Given the description of an element on the screen output the (x, y) to click on. 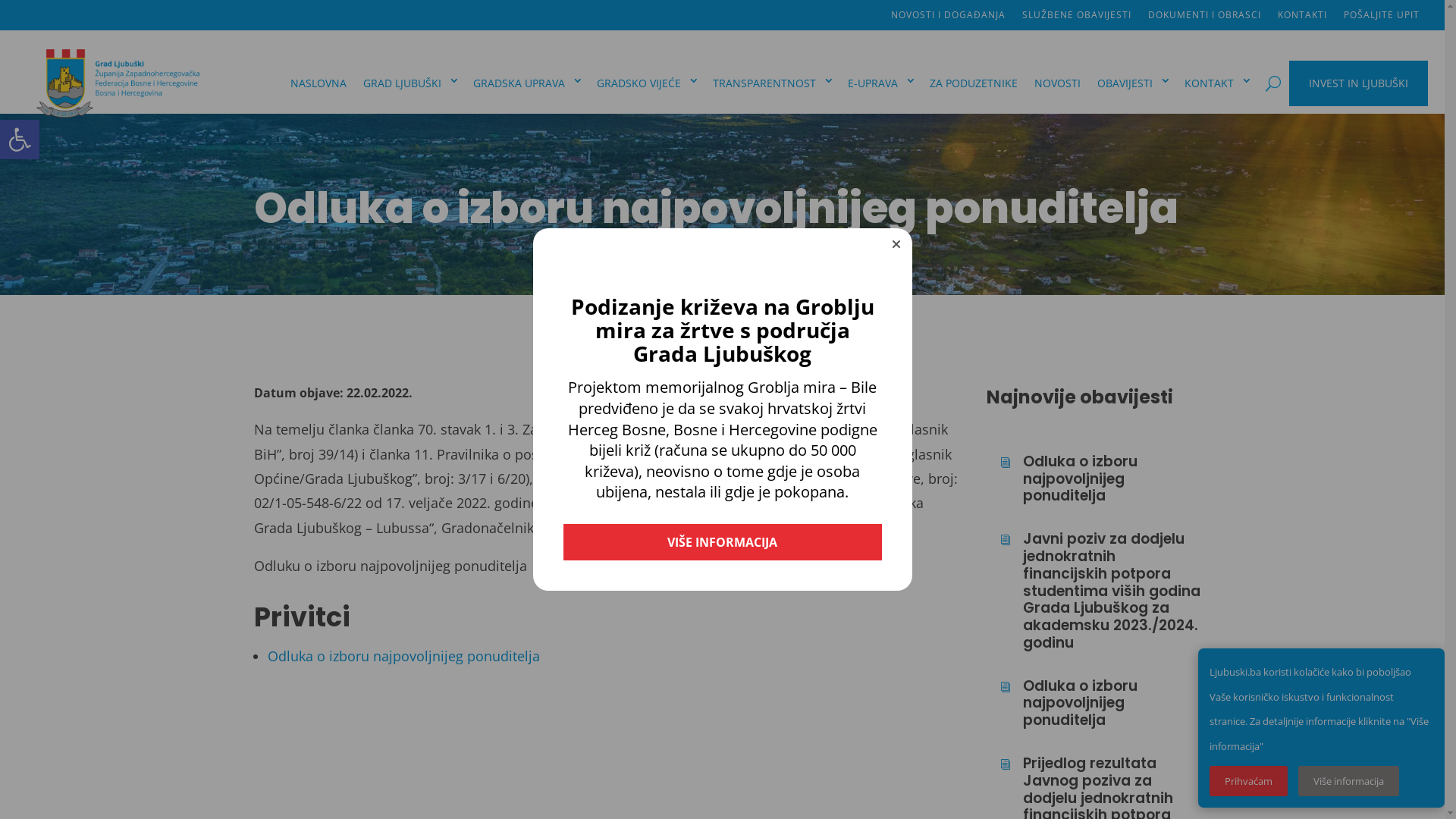
KONTAKT Element type: text (1216, 83)
U Element type: text (1272, 83)
KONTAKTI Element type: text (1302, 17)
DOKUMENTI I OBRASCI Element type: text (1204, 17)
GRADSKA UPRAVA Element type: text (526, 83)
OBAVIJESTI Element type: text (1132, 83)
NASLOVNA Element type: text (318, 83)
Odluka o izboru najpovoljnijeg ponuditelja Element type: text (403, 655)
ZA PODUZETNIKE Element type: text (973, 83)
i
Odluka o izboru najpovoljnijeg ponuditelja Element type: text (1100, 703)
E-UPRAVA Element type: text (880, 83)
TRANSPARENTNOST Element type: text (771, 83)
NOVOSTI Element type: text (1057, 83)
i
Odluka o izboru najpovoljnijeg ponuditelja Element type: text (1100, 479)
